Given the description of an element on the screen output the (x, y) to click on. 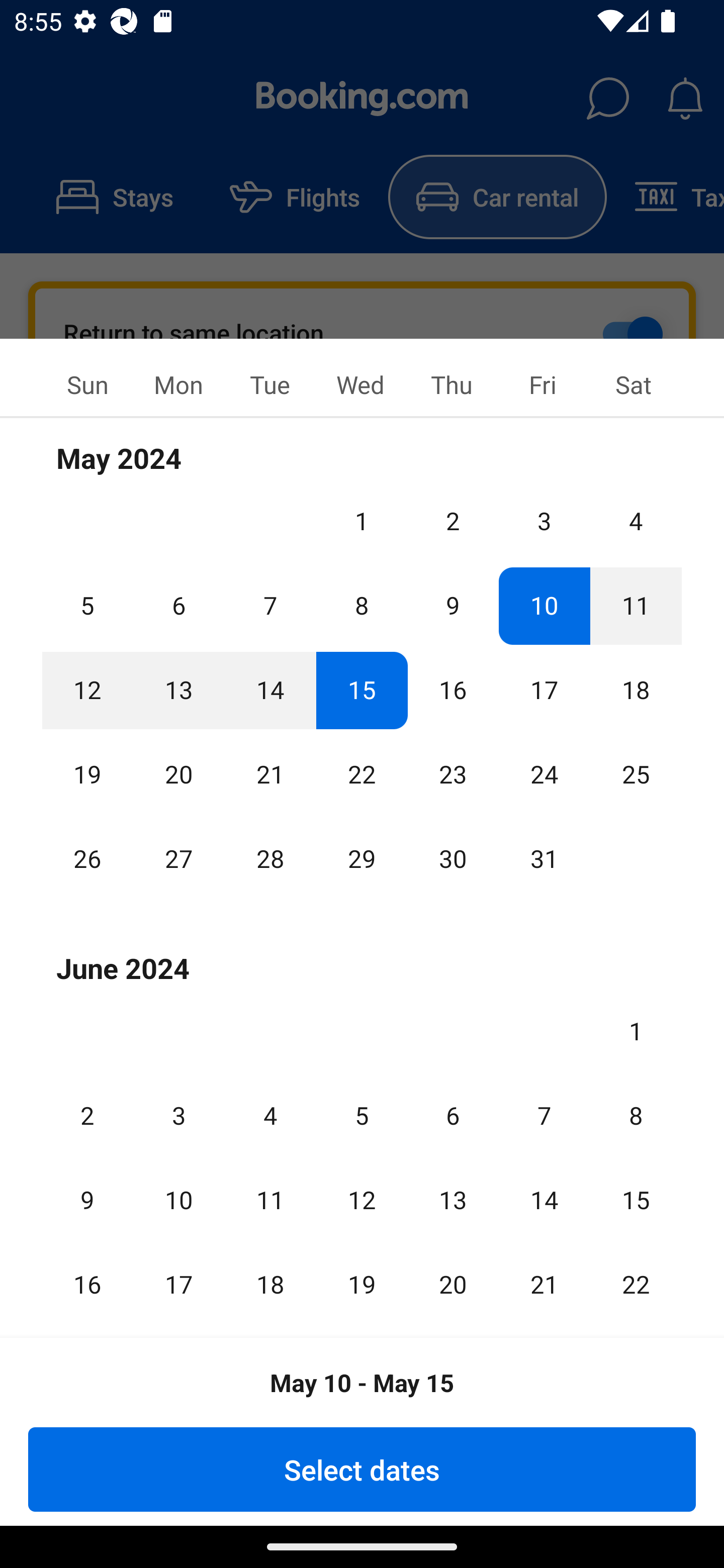
Select dates (361, 1468)
